Given the description of an element on the screen output the (x, y) to click on. 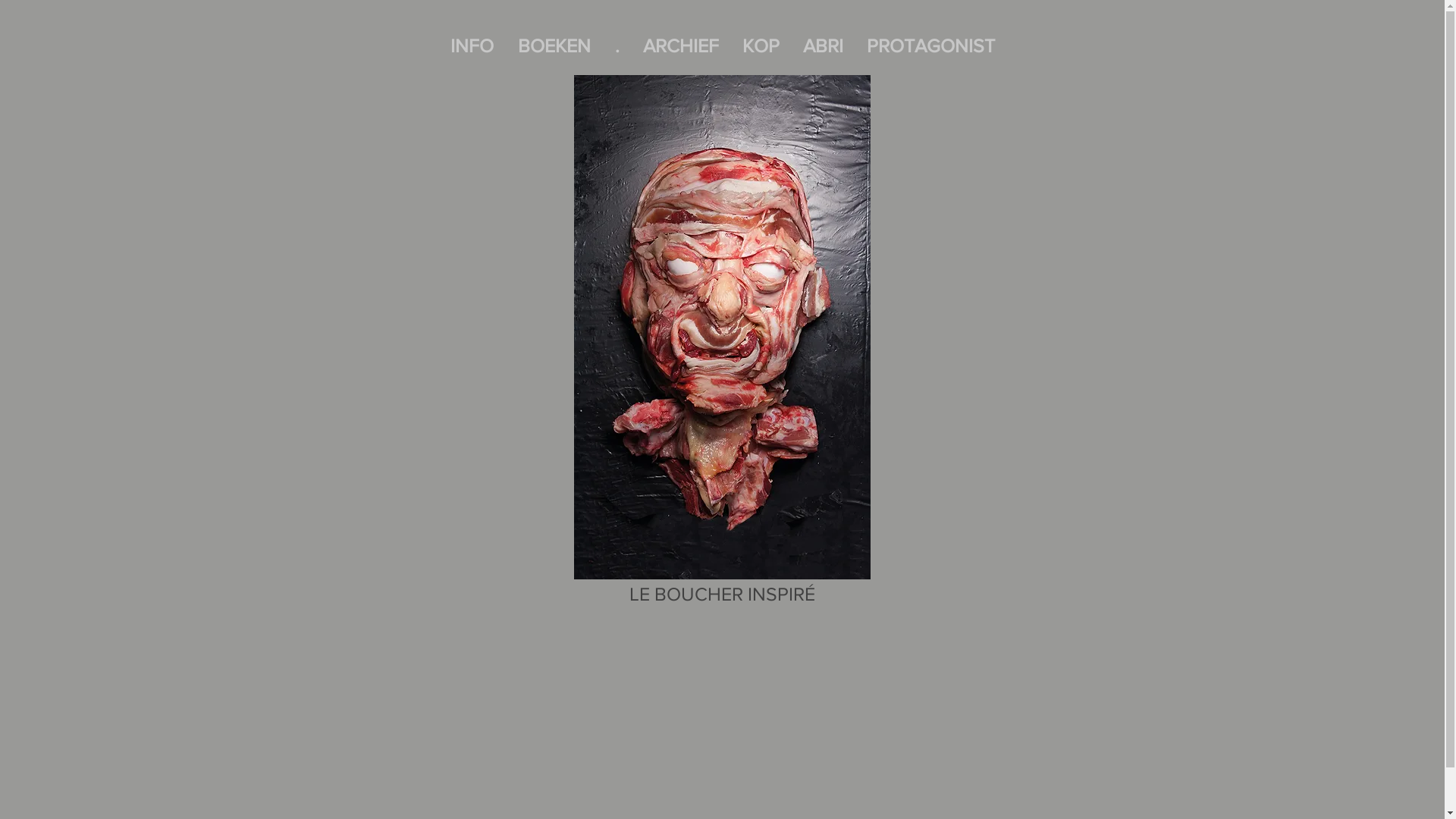
ARCHIEF Element type: text (680, 45)
BOEKEN Element type: text (553, 45)
KOP Element type: text (761, 45)
INFO Element type: text (471, 45)
PROTAGONIST Element type: text (931, 45)
ABRI Element type: text (823, 45)
